Given the description of an element on the screen output the (x, y) to click on. 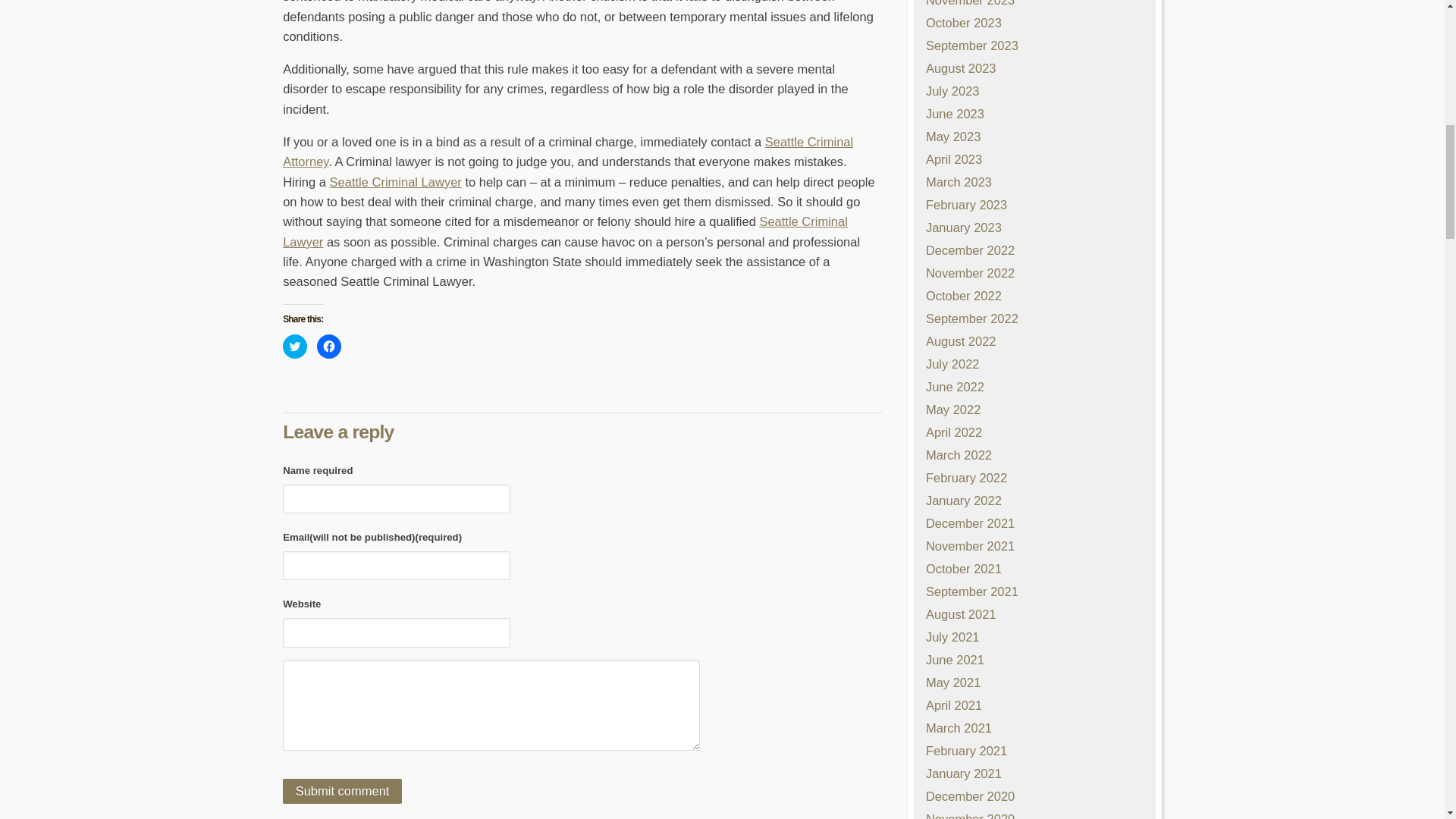
Click to share on Facebook (328, 346)
Click to share on Twitter (294, 346)
Submit comment (341, 790)
